Given the description of an element on the screen output the (x, y) to click on. 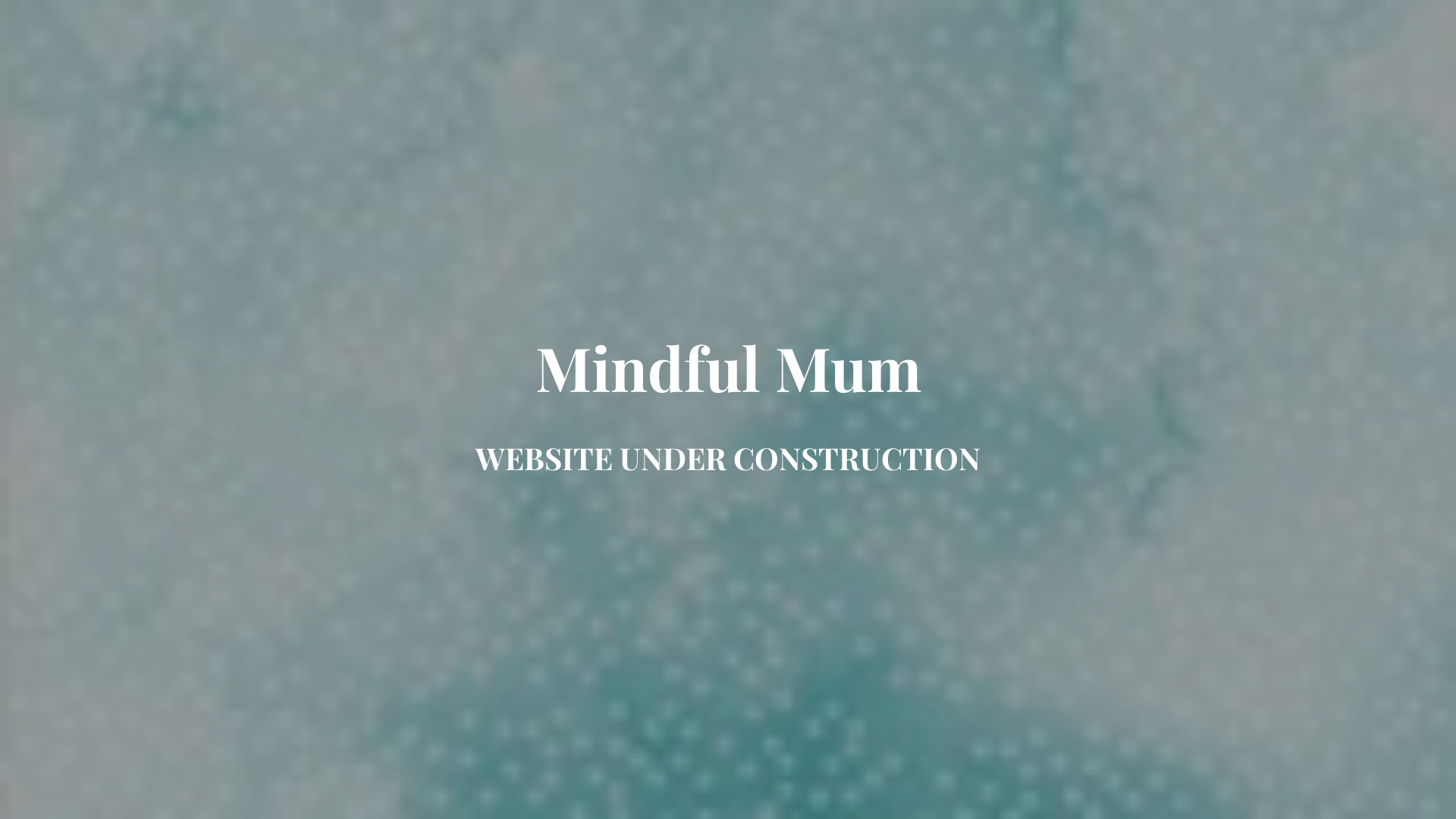
Mindful Mum Element type: text (728, 380)
